Given the description of an element on the screen output the (x, y) to click on. 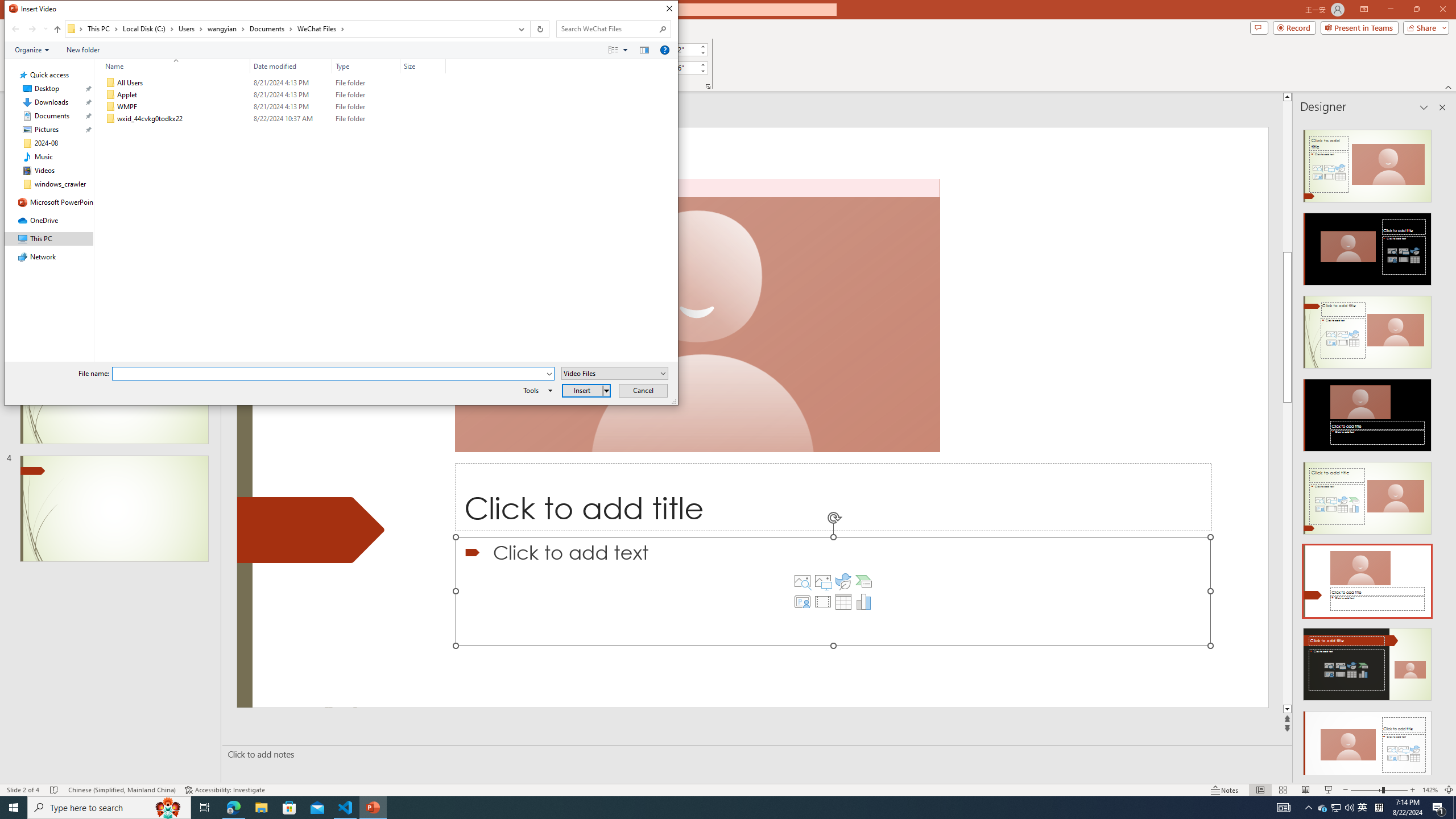
Line up (1450, 96)
Title TextBox (833, 496)
Accessibility Checker Accessibility: Investigate (224, 790)
View Slider (625, 49)
File name: (329, 373)
Applet (273, 94)
Class: MsoCommandBar (728, 789)
Tray Input Indicator - Chinese (Simplified, China) (1378, 807)
Microsoft Store (289, 807)
Design Idea (1366, 743)
